Given the description of an element on the screen output the (x, y) to click on. 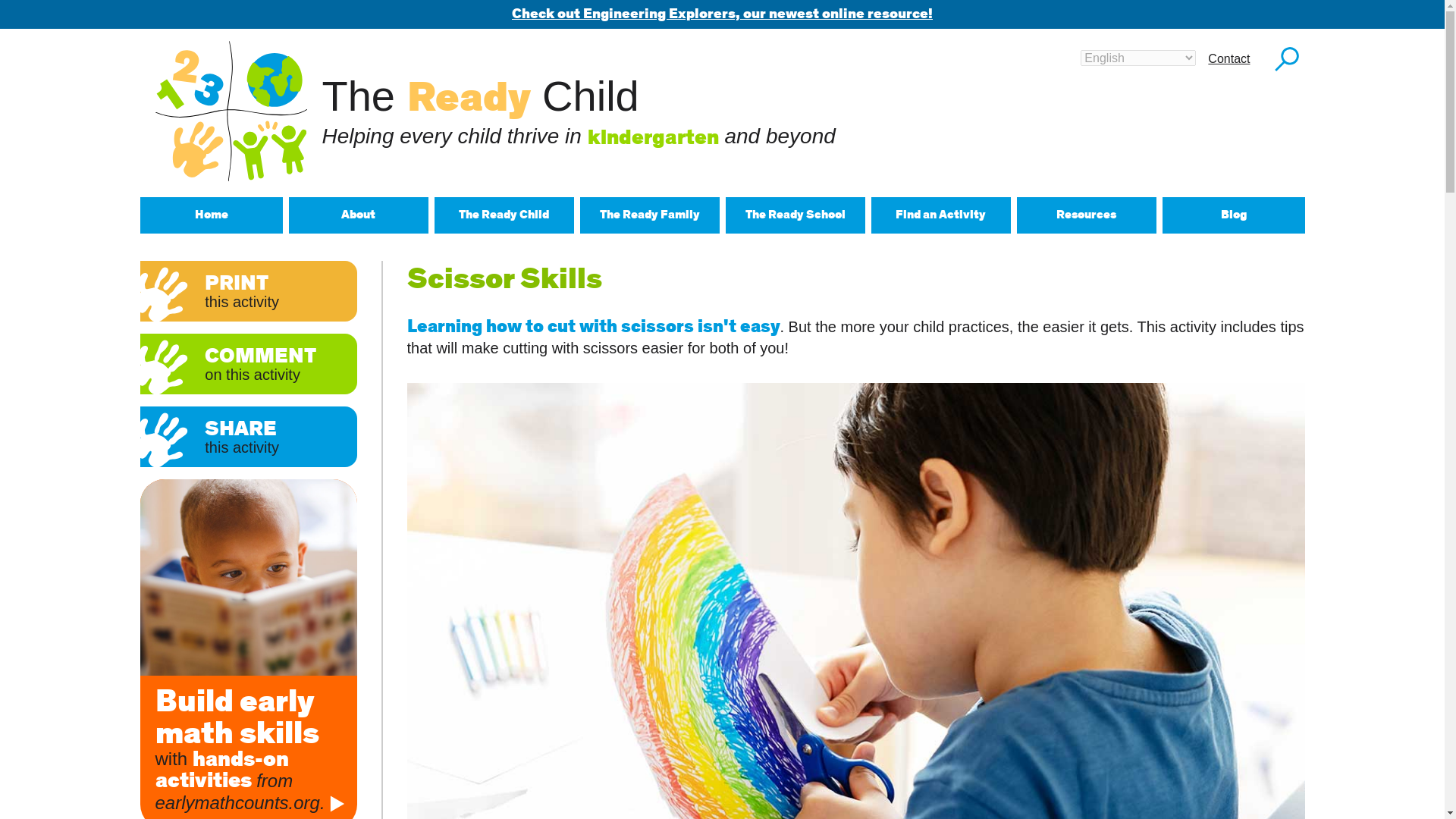
About (358, 215)
The Ready Child (503, 215)
Check out Engineering Explorers, our newest online resource! (722, 13)
The Ready Family (649, 215)
Contact (1228, 58)
Ready Child (230, 110)
Home (210, 215)
The Ready School (794, 215)
Find an Activity (940, 215)
